Given the description of an element on the screen output the (x, y) to click on. 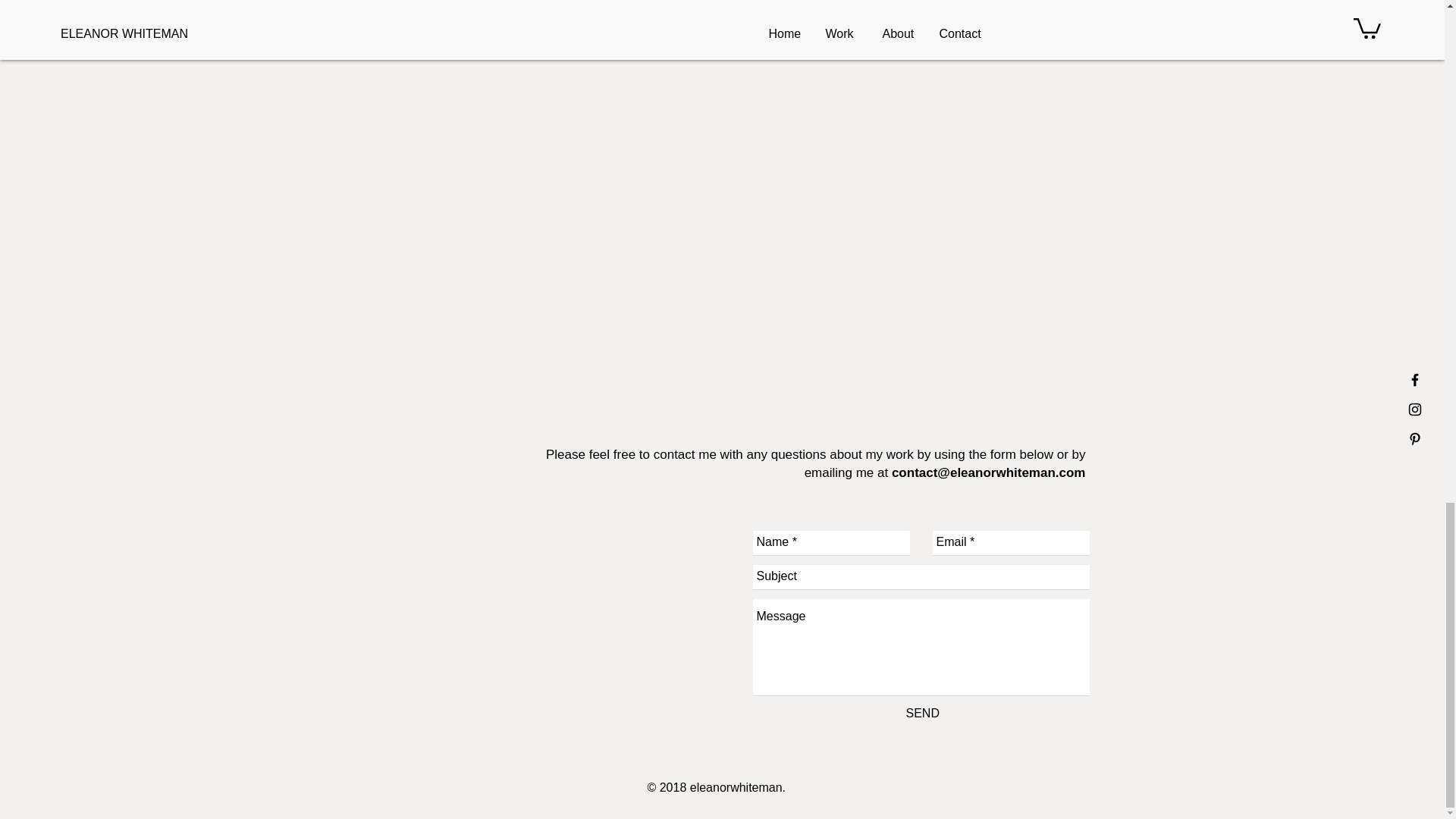
SEND (922, 713)
